Given the description of an element on the screen output the (x, y) to click on. 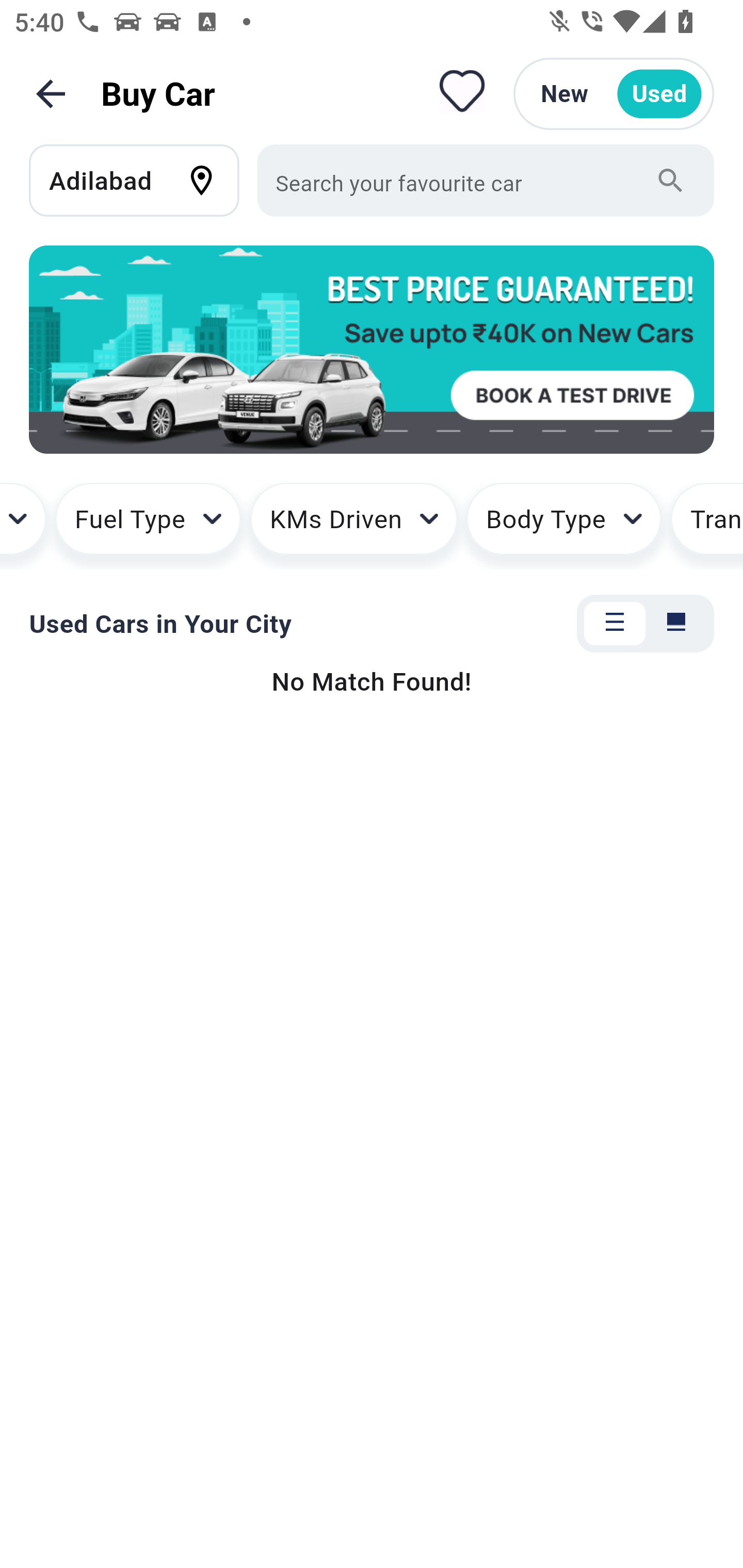
Back (50, 93)
New (564, 93)
Used (659, 93)
Adilabad (142, 180)
Fuel Type (147, 525)
KMs Driven (353, 525)
Body Type (563, 525)
Tab 1 of 2 (614, 624)
Tab 2 of 2 (675, 624)
